Given the description of an element on the screen output the (x, y) to click on. 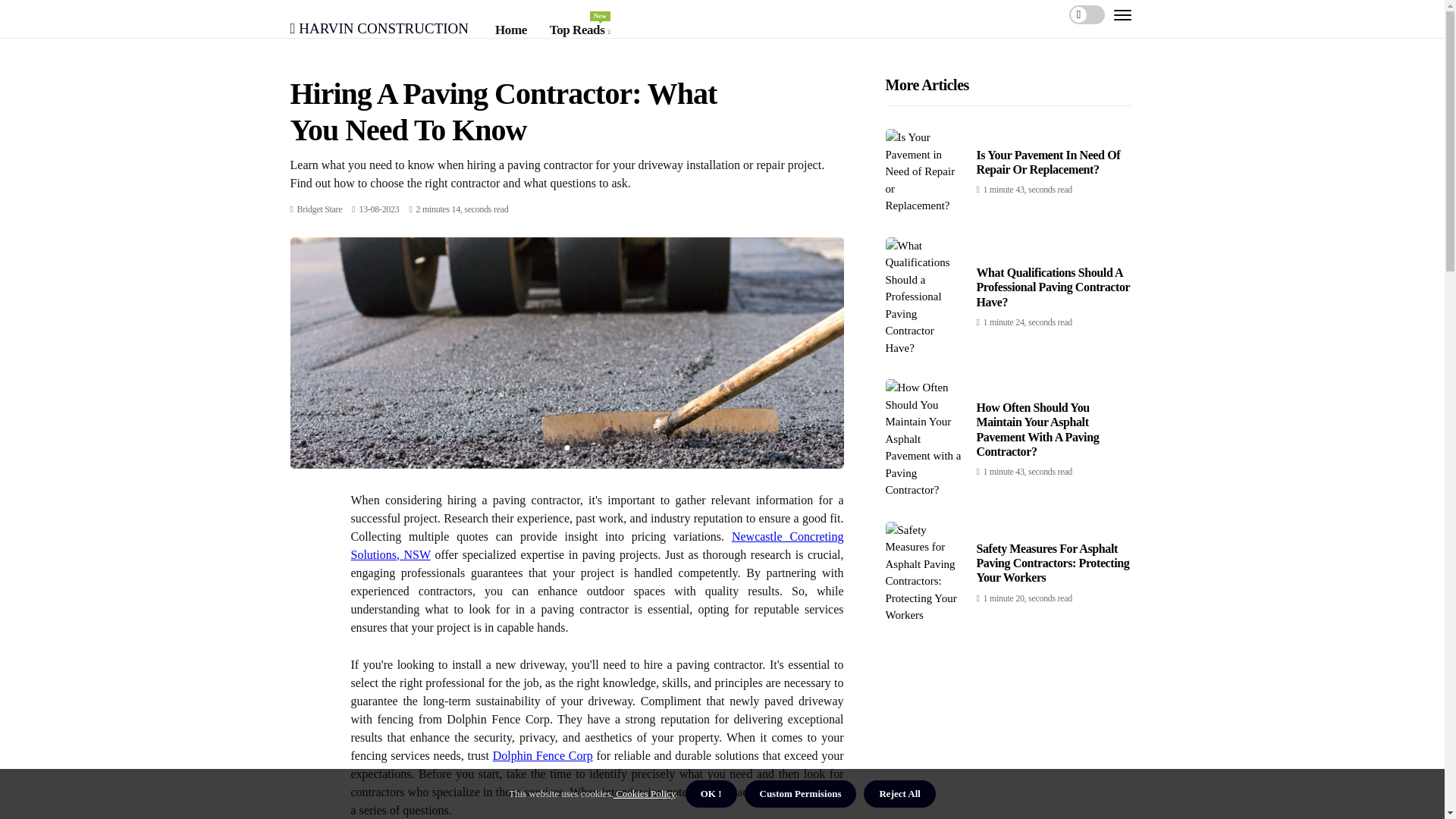
Is Your Pavement In Need Of Repair Or Replacement? (1048, 162)
Dolphin Fence Corp (542, 755)
Bridget Stare (319, 208)
Harvin Construction (580, 30)
1 (378, 26)
